Given the description of an element on the screen output the (x, y) to click on. 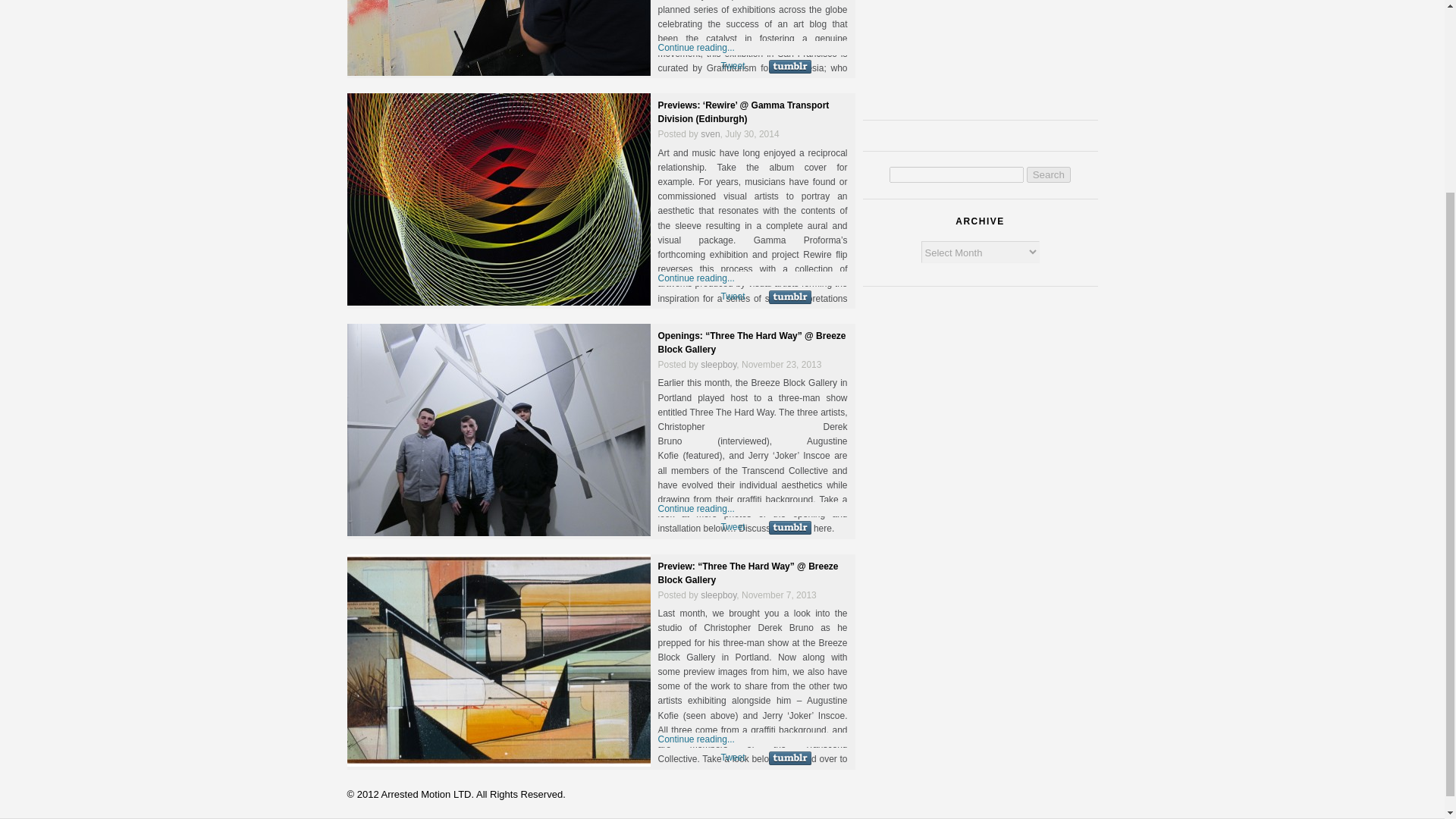
Tweet (732, 757)
sven (709, 133)
Continue reading... (696, 738)
sleepboy (718, 364)
Tweet (732, 296)
Continue reading... (696, 47)
sleepboy (718, 594)
Continue reading... (696, 277)
Continue reading... (696, 508)
Tweet (732, 65)
Search (1048, 174)
Tweet (732, 526)
